Given the description of an element on the screen output the (x, y) to click on. 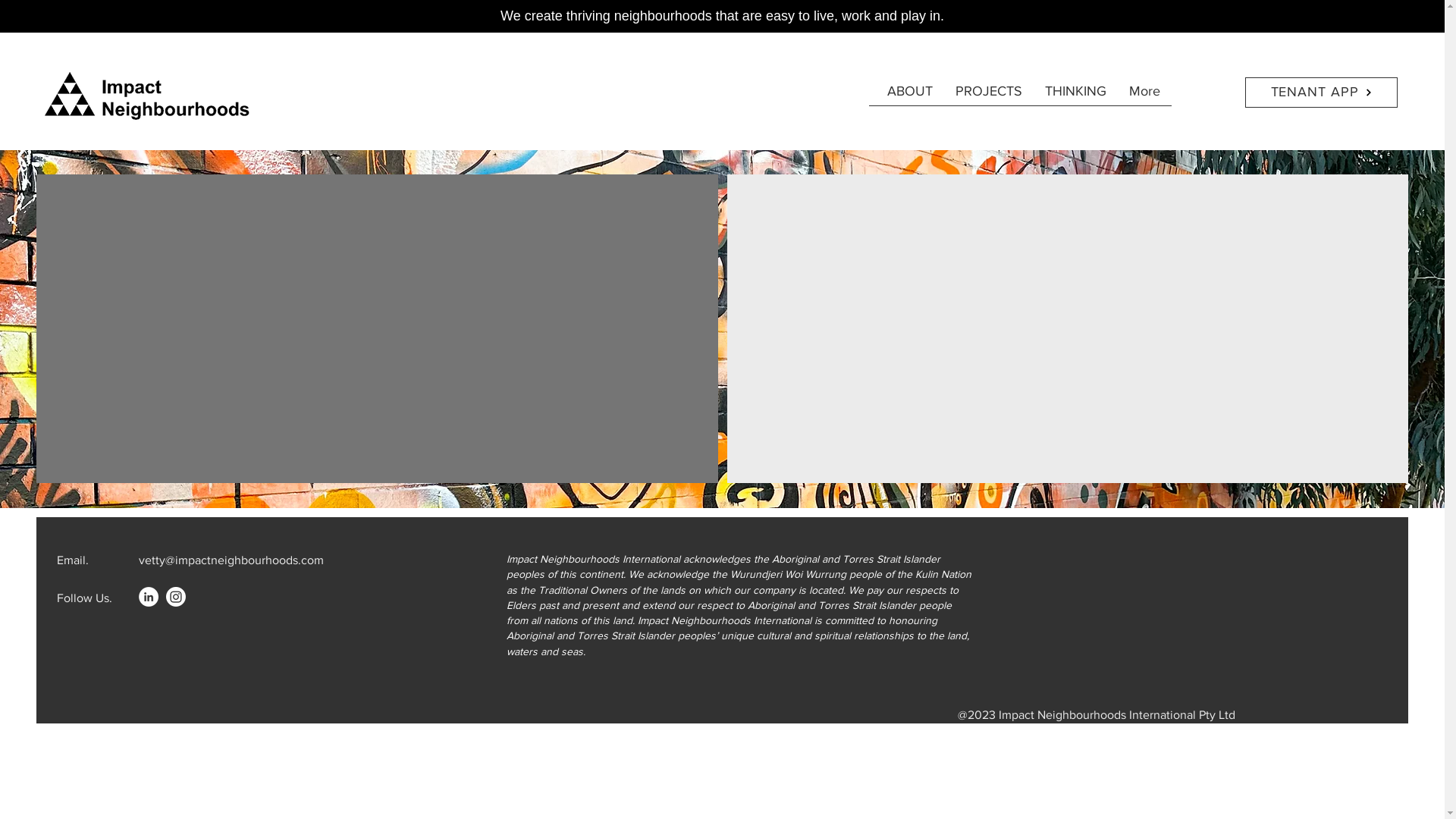
THINKING Element type: text (1075, 96)
PROJECTS Element type: text (988, 96)
ABOUT Element type: text (909, 96)
TENANT APP Element type: text (1321, 92)
vetty@impactneighbourhoods.com Element type: text (230, 559)
